Given the description of an element on the screen output the (x, y) to click on. 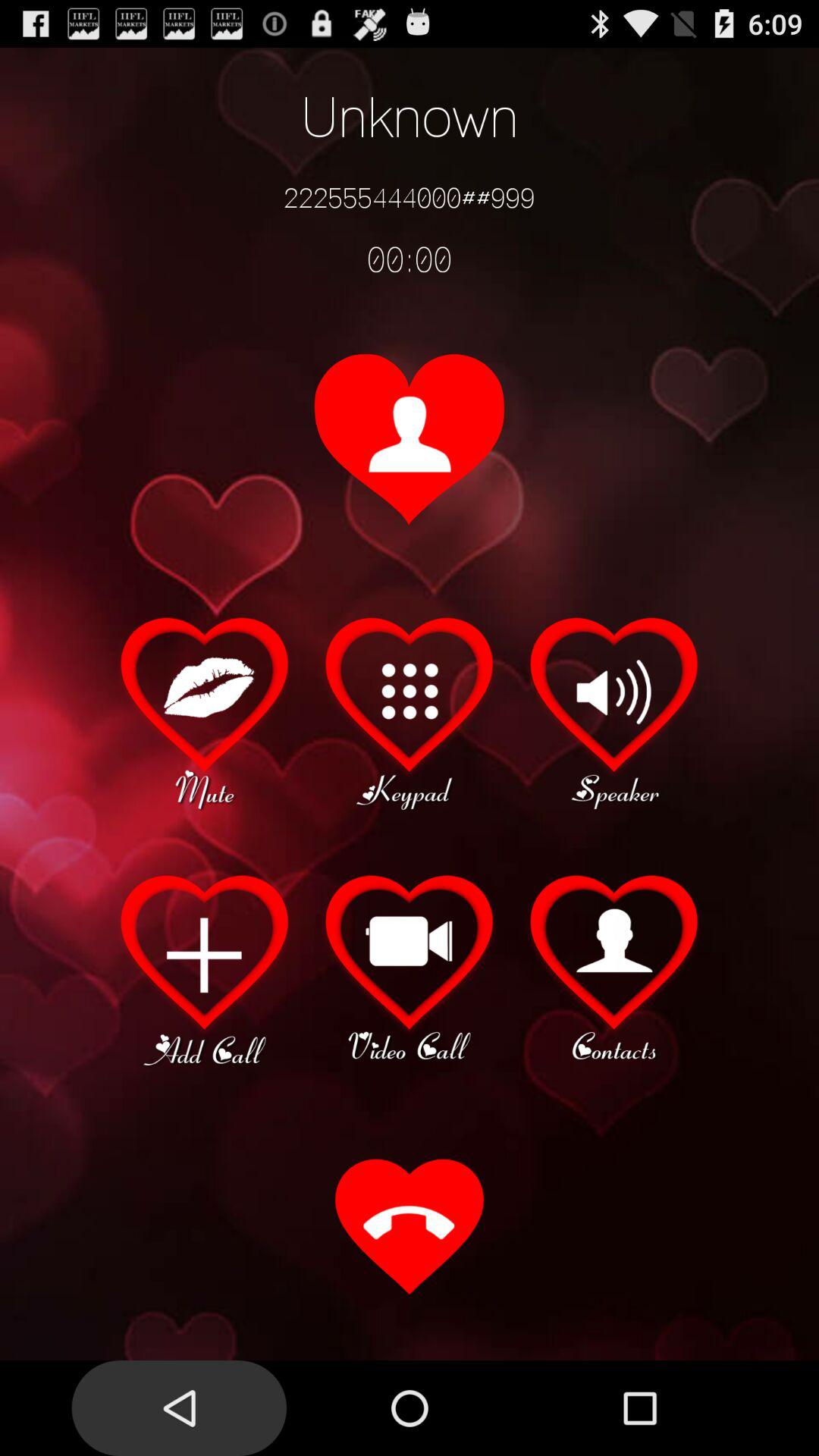
open 2nd app from 1st row (409, 711)
